Given the description of an element on the screen output the (x, y) to click on. 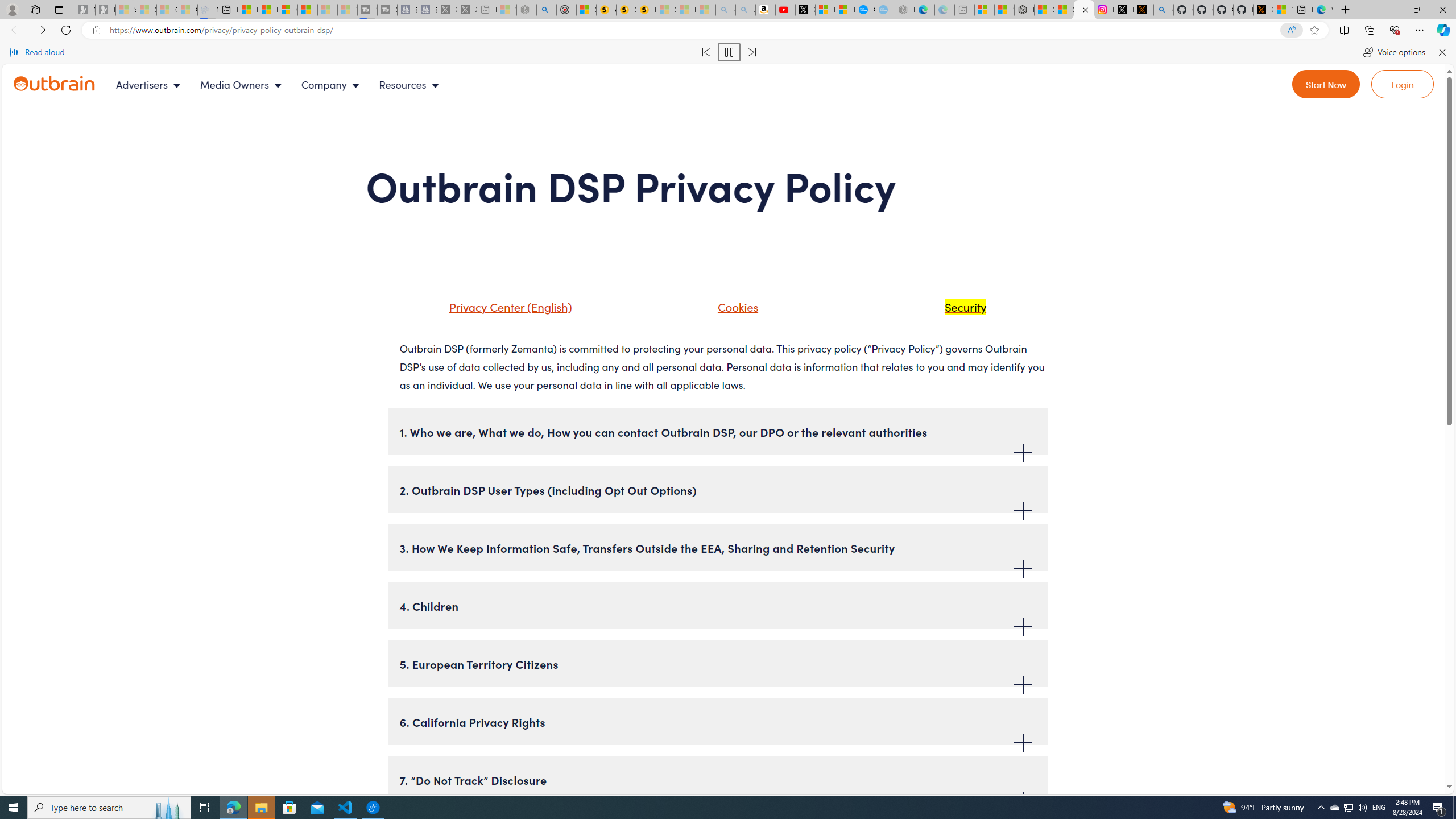
Skip navigation to go to main content (34, 69)
Outbrain logo - link to homepage (54, 83)
Address and search bar (693, 29)
github - Search (1162, 9)
Resources (411, 84)
Close read aloud (1441, 52)
